Given the description of an element on the screen output the (x, y) to click on. 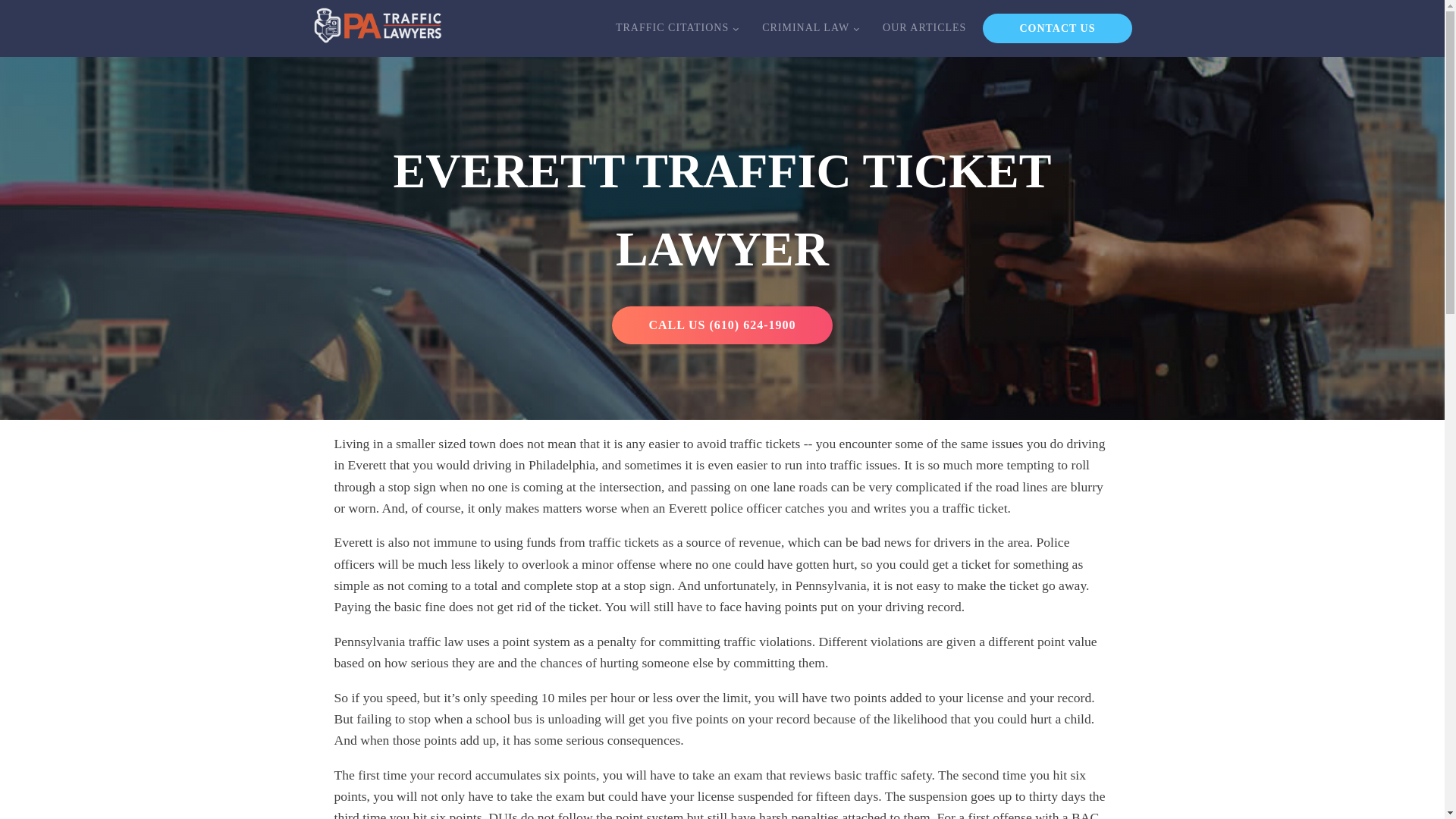
OUR ARTICLES (924, 27)
TRAFFIC CITATIONS (676, 27)
CONTACT US (1056, 28)
CRIMINAL LAW (809, 27)
